Given the description of an element on the screen output the (x, y) to click on. 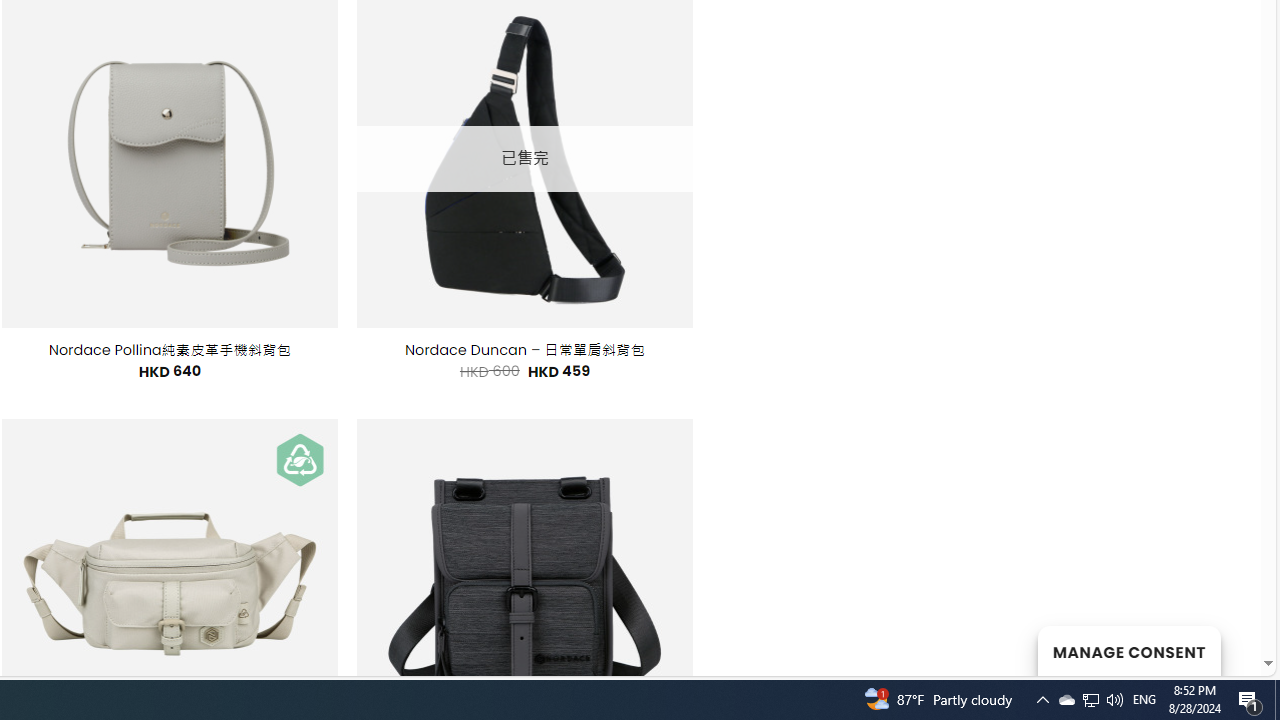
MANAGE CONSENT (1128, 650)
